Given the description of an element on the screen output the (x, y) to click on. 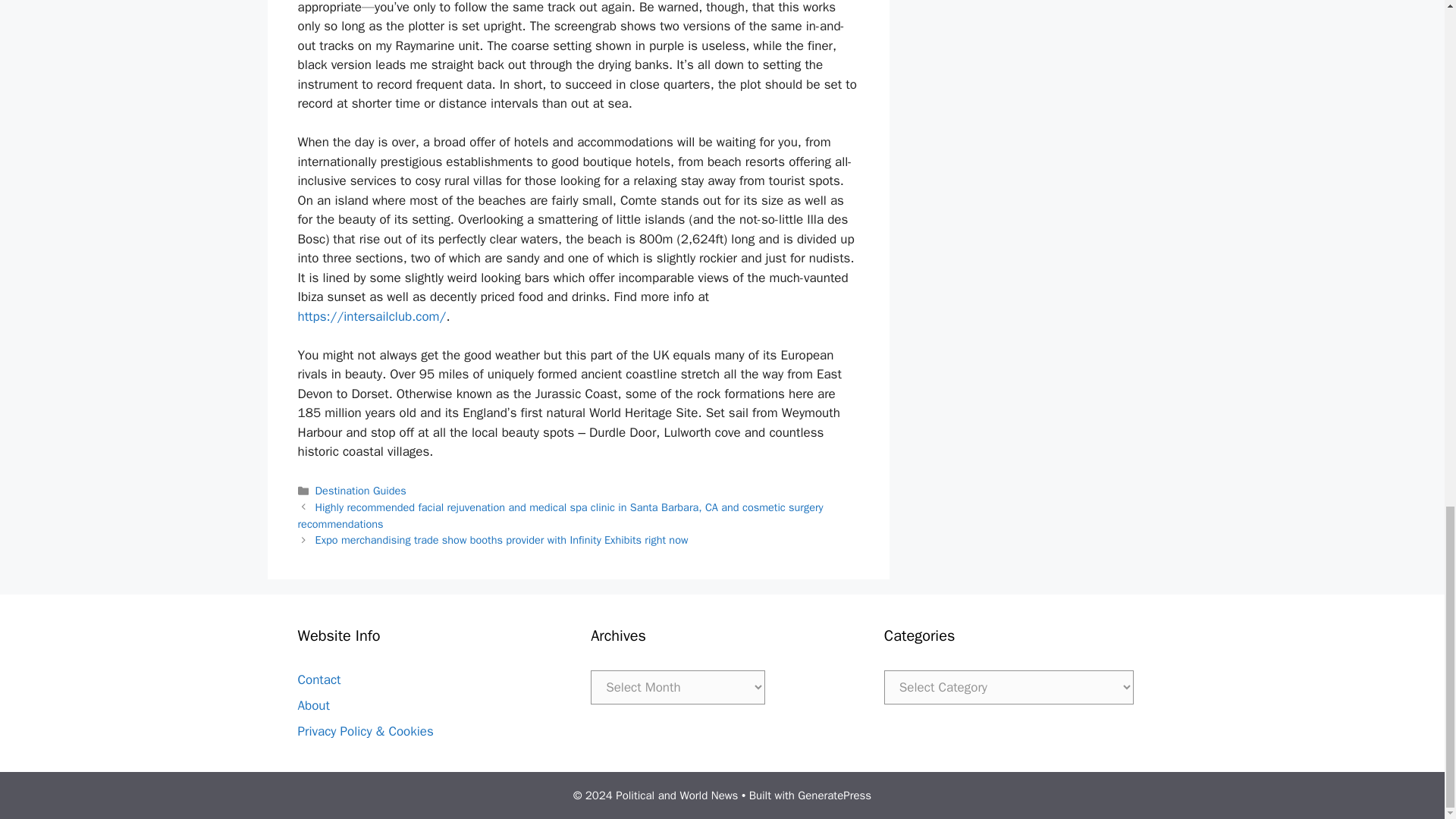
Next (501, 540)
Previous (559, 515)
Destination Guides (360, 490)
